Given the description of an element on the screen output the (x, y) to click on. 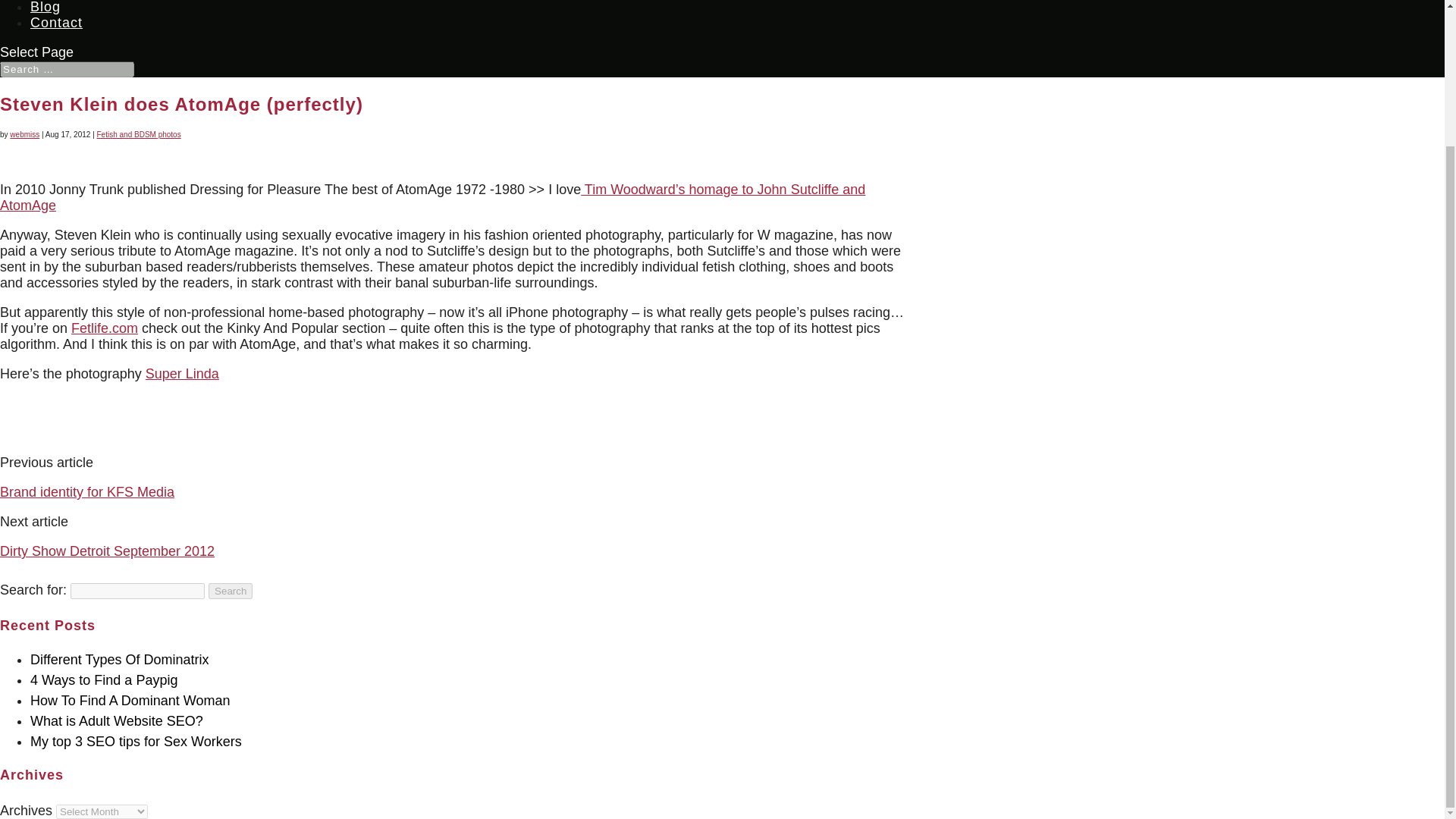
Search (229, 590)
Contact (56, 29)
Fetish and BDSM photos (138, 134)
Search for: (66, 68)
webmiss (24, 134)
About Me (62, 6)
Fetlife.com (104, 328)
Posts by webmiss (24, 134)
How To Find A Dominant Woman (130, 700)
4 Ways to Find a Paypig (103, 679)
